Given the description of an element on the screen output the (x, y) to click on. 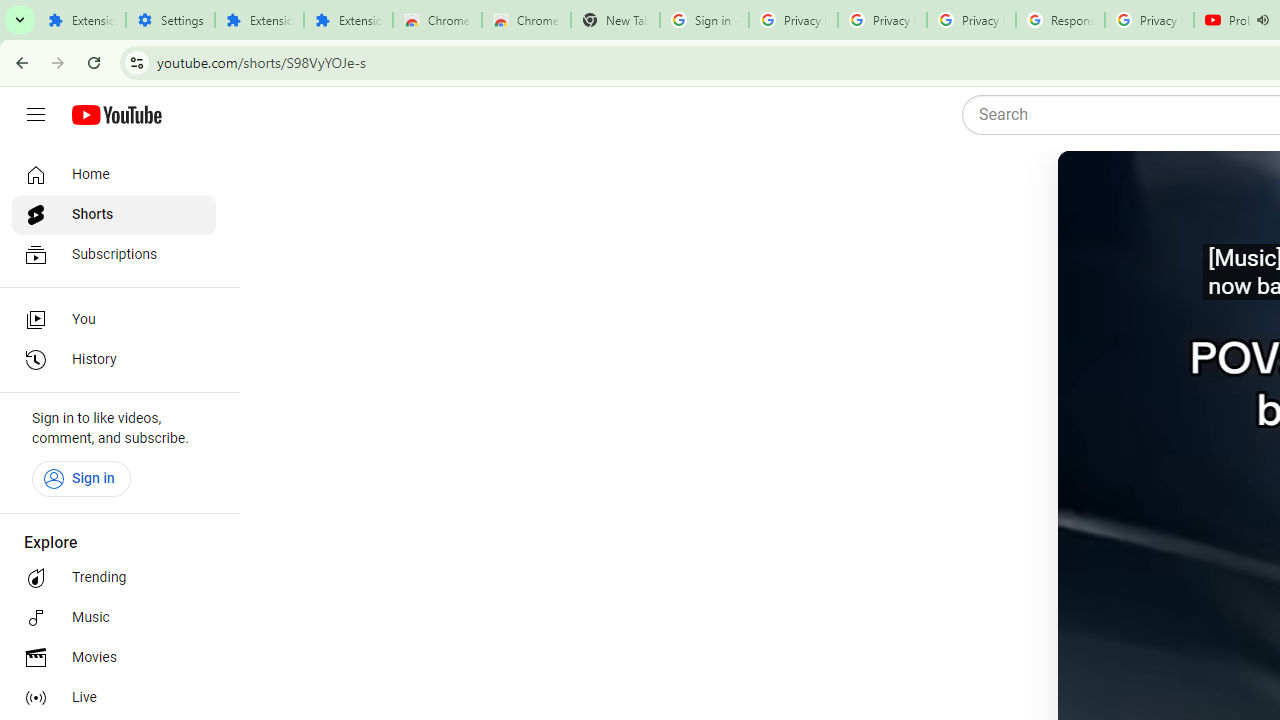
Extensions (347, 20)
Back (19, 62)
Home (113, 174)
Reload (93, 62)
